Given the description of an element on the screen output the (x, y) to click on. 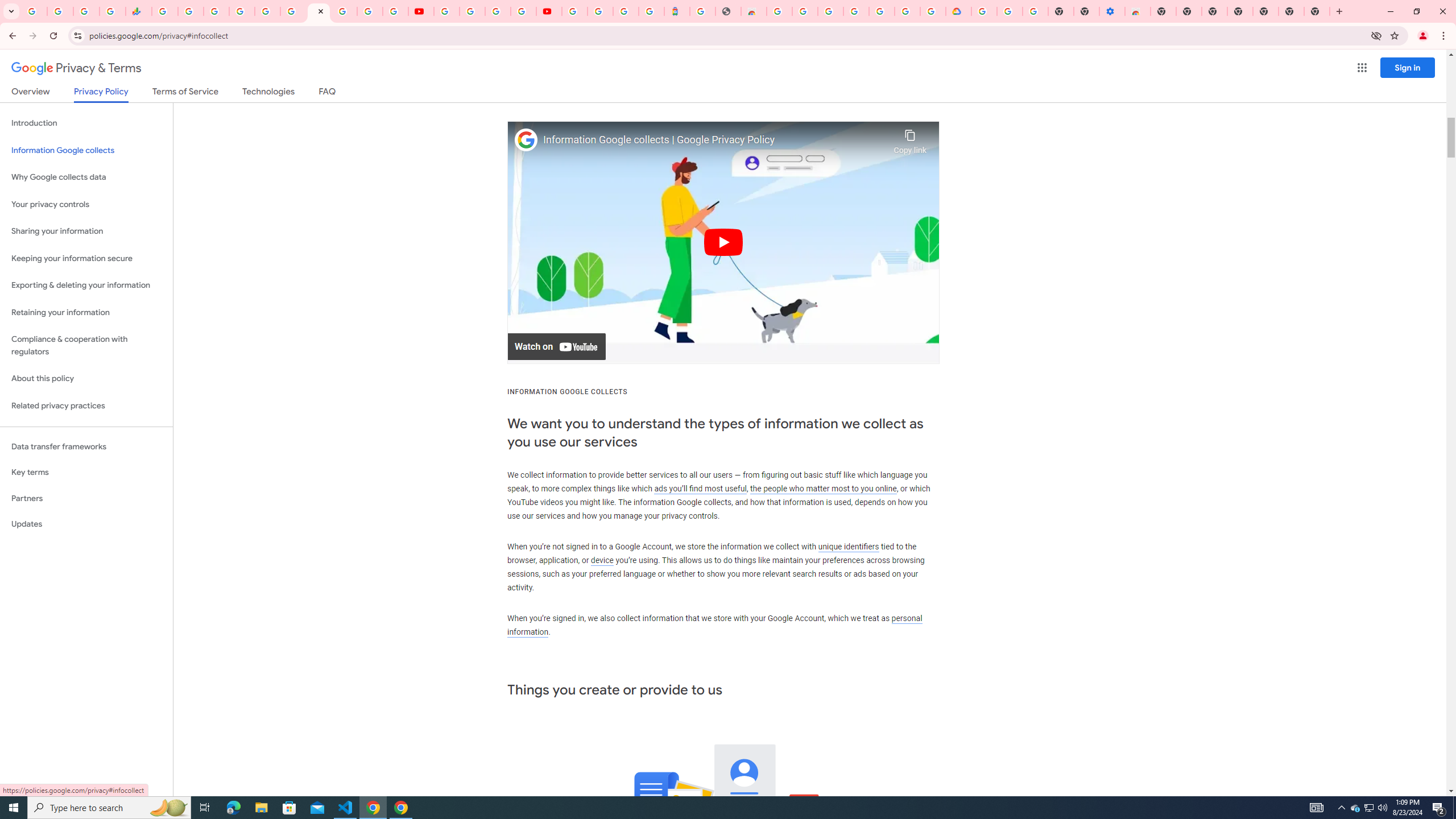
Partners (86, 497)
Data transfer frameworks (86, 446)
